Given the description of an element on the screen output the (x, y) to click on. 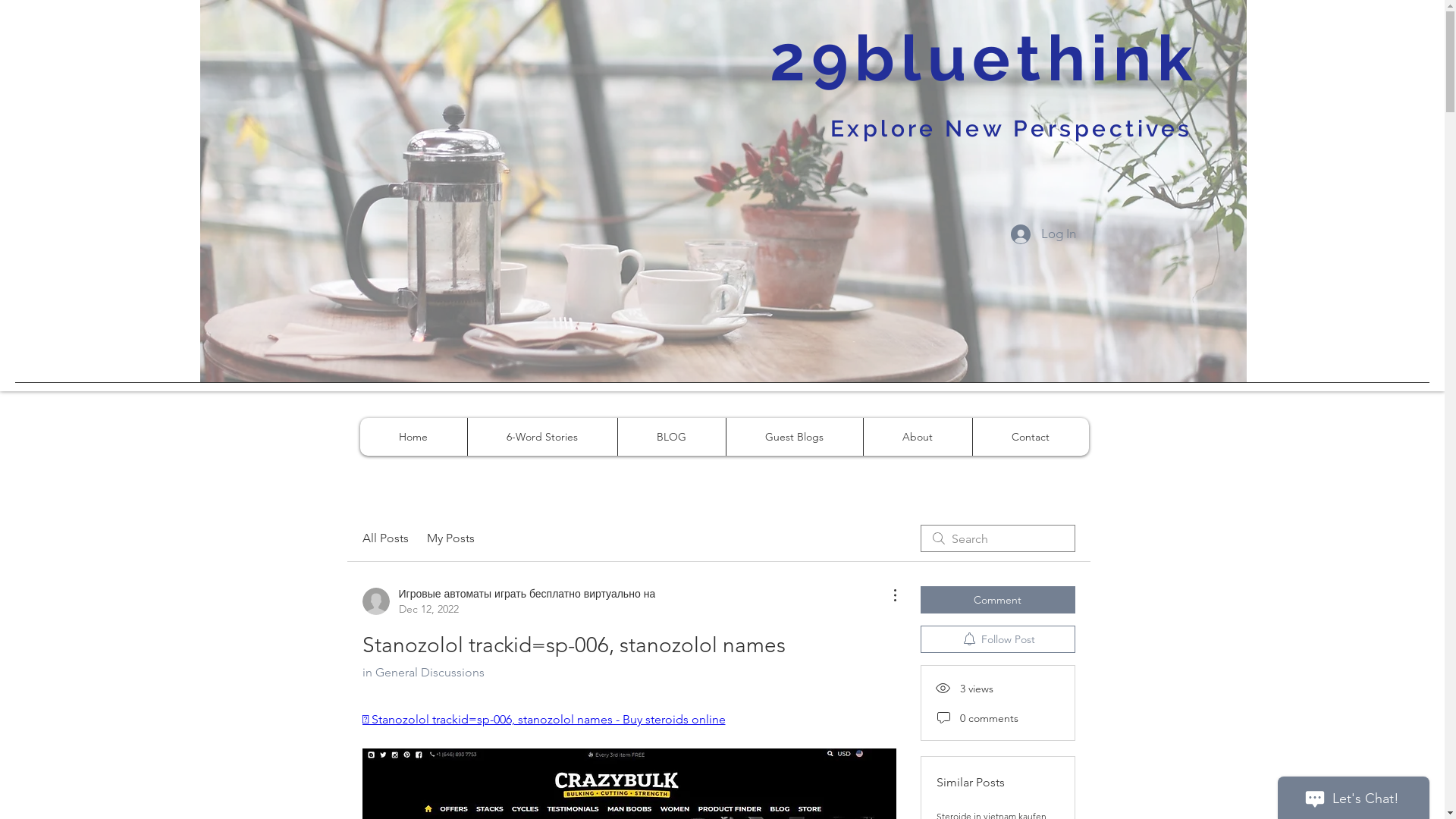
About Element type: text (917, 436)
Log In Element type: text (1042, 233)
Follow Post Element type: text (997, 638)
Guest Blogs Element type: text (793, 436)
My Posts Element type: text (449, 538)
6-Word Stories Element type: text (542, 436)
Home Element type: text (412, 436)
Comment Element type: text (997, 599)
All Posts Element type: text (385, 538)
BLOG Element type: text (671, 436)
Contact Element type: text (1030, 436)
in General Discussions Element type: text (423, 672)
